Given the description of an element on the screen output the (x, y) to click on. 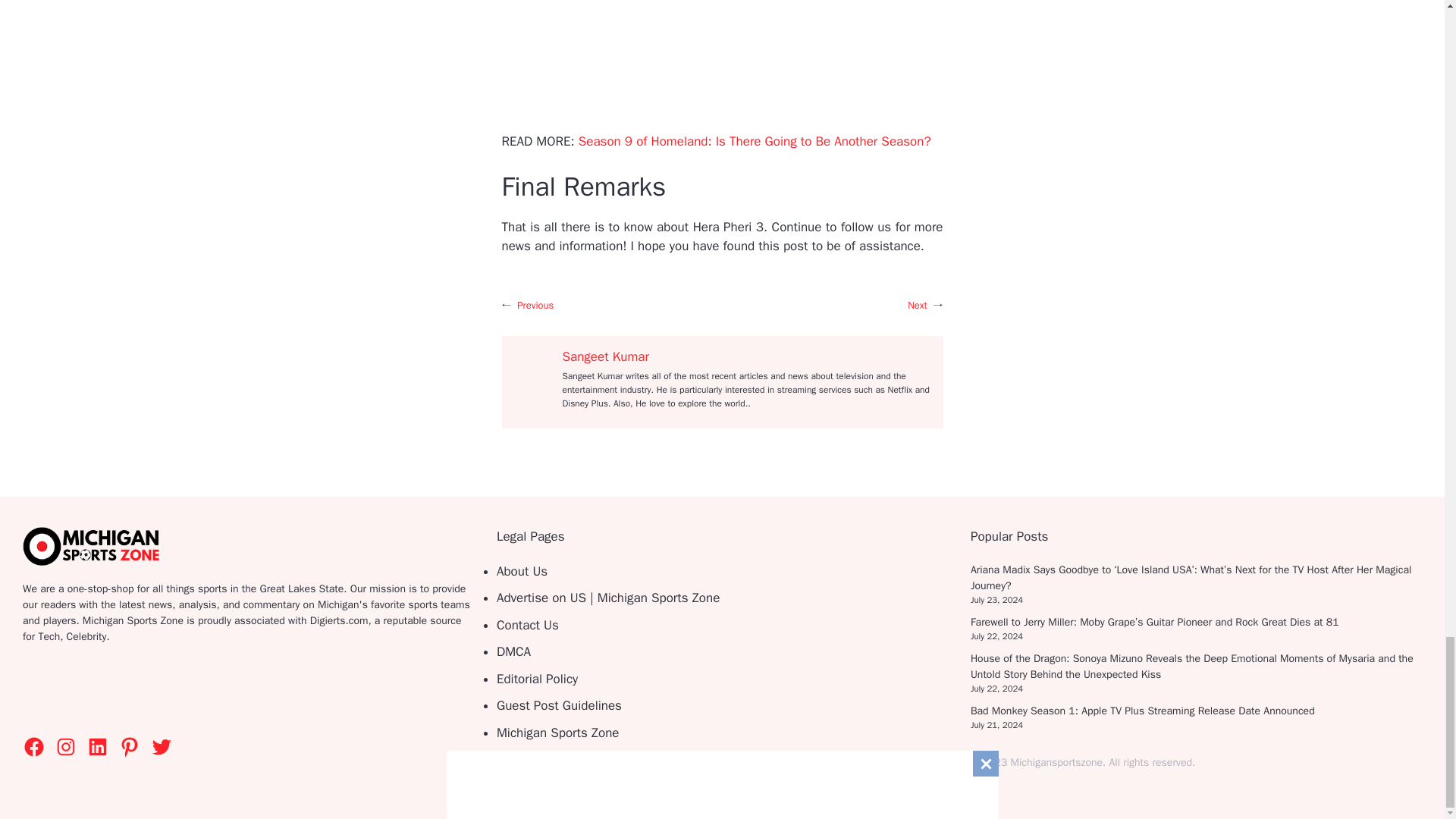
Season 9 of Homeland: Is There Going to Be Another Season? (754, 141)
google-news (122, 690)
